Given the description of an element on the screen output the (x, y) to click on. 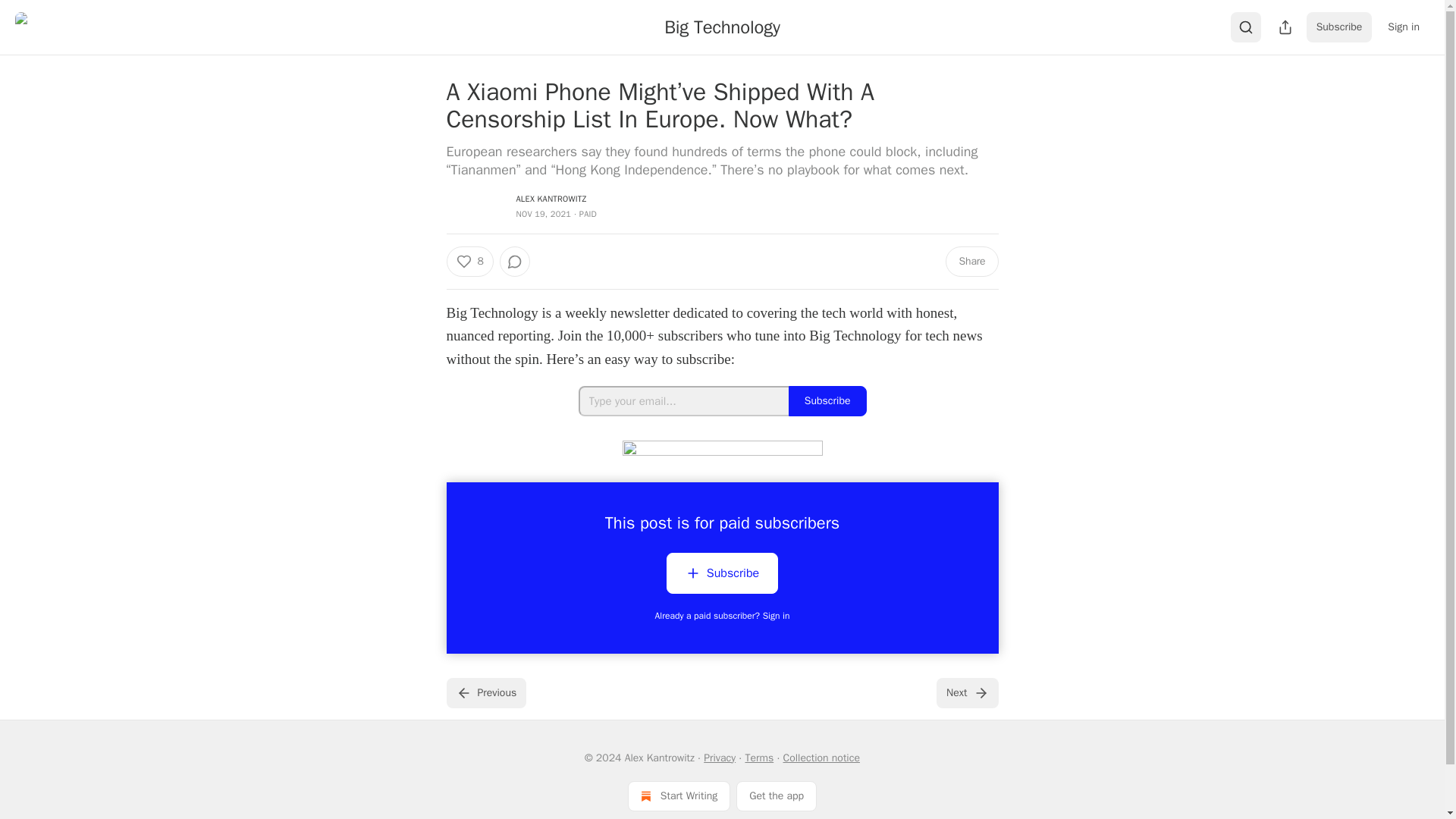
Sign in (1403, 27)
Terms (758, 757)
Big Technology (721, 26)
Subscribe (721, 576)
Privacy (719, 757)
Already a paid subscriber? Sign in (722, 615)
Previous (485, 693)
Next (966, 693)
Get the app (776, 796)
ALEX KANTROWITZ (550, 198)
Collection notice (821, 757)
Share (970, 261)
Subscribe (1339, 27)
Subscribe (721, 572)
8 (469, 261)
